Given the description of an element on the screen output the (x, y) to click on. 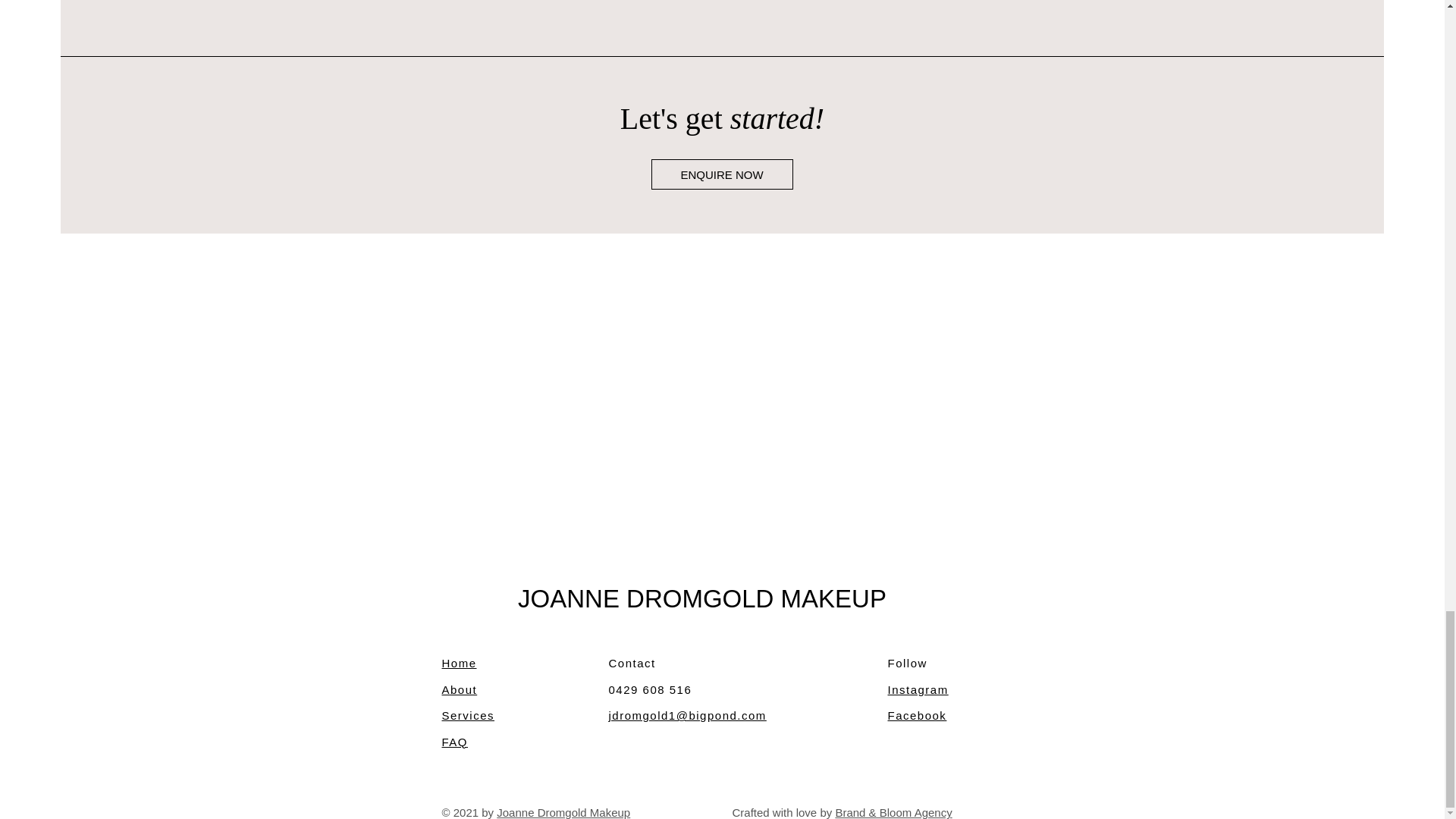
Home (458, 662)
Instagram (916, 689)
JOANNE DROMGOLD MAKEUP (702, 598)
Contact (631, 662)
ENQUIRE NOW (721, 173)
Facebook (916, 715)
Services (468, 715)
FAQ (454, 741)
About (459, 689)
